Given the description of an element on the screen output the (x, y) to click on. 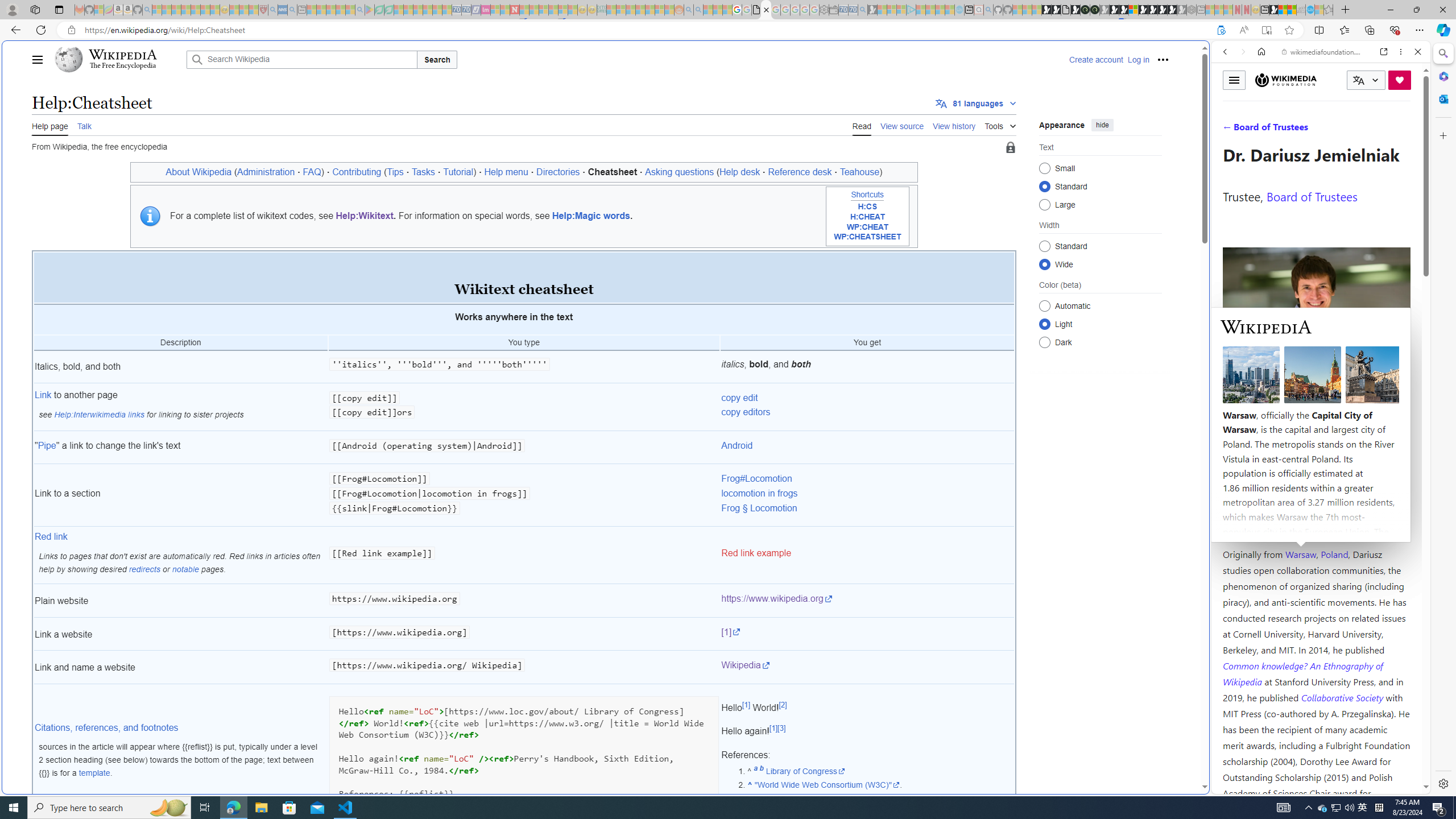
hide (1102, 124)
SEARCH TOOLS (1350, 130)
[3] (781, 728)
redirects (144, 569)
Red link (50, 536)
Favorites - Sleeping (1328, 9)
